Given the description of an element on the screen output the (x, y) to click on. 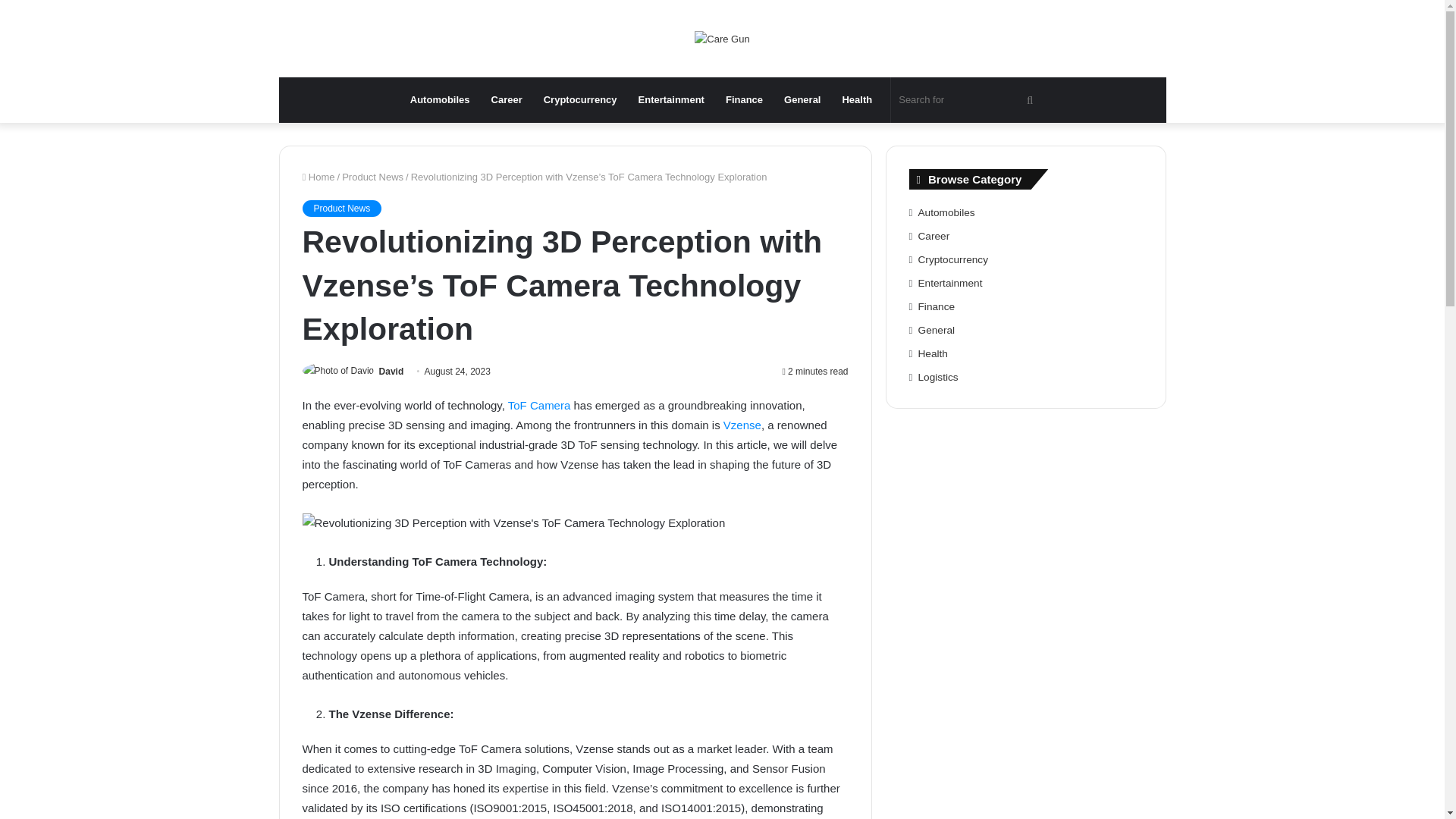
Vzense (742, 424)
David (391, 371)
Search for (968, 99)
Health (856, 99)
David (391, 371)
Product News (341, 208)
Care Gun (721, 38)
Entertainment (670, 99)
General (802, 99)
Automobiles (439, 99)
Cryptocurrency (579, 99)
Career (506, 99)
ToF Camera (539, 404)
Finance (743, 99)
Home (317, 176)
